Given the description of an element on the screen output the (x, y) to click on. 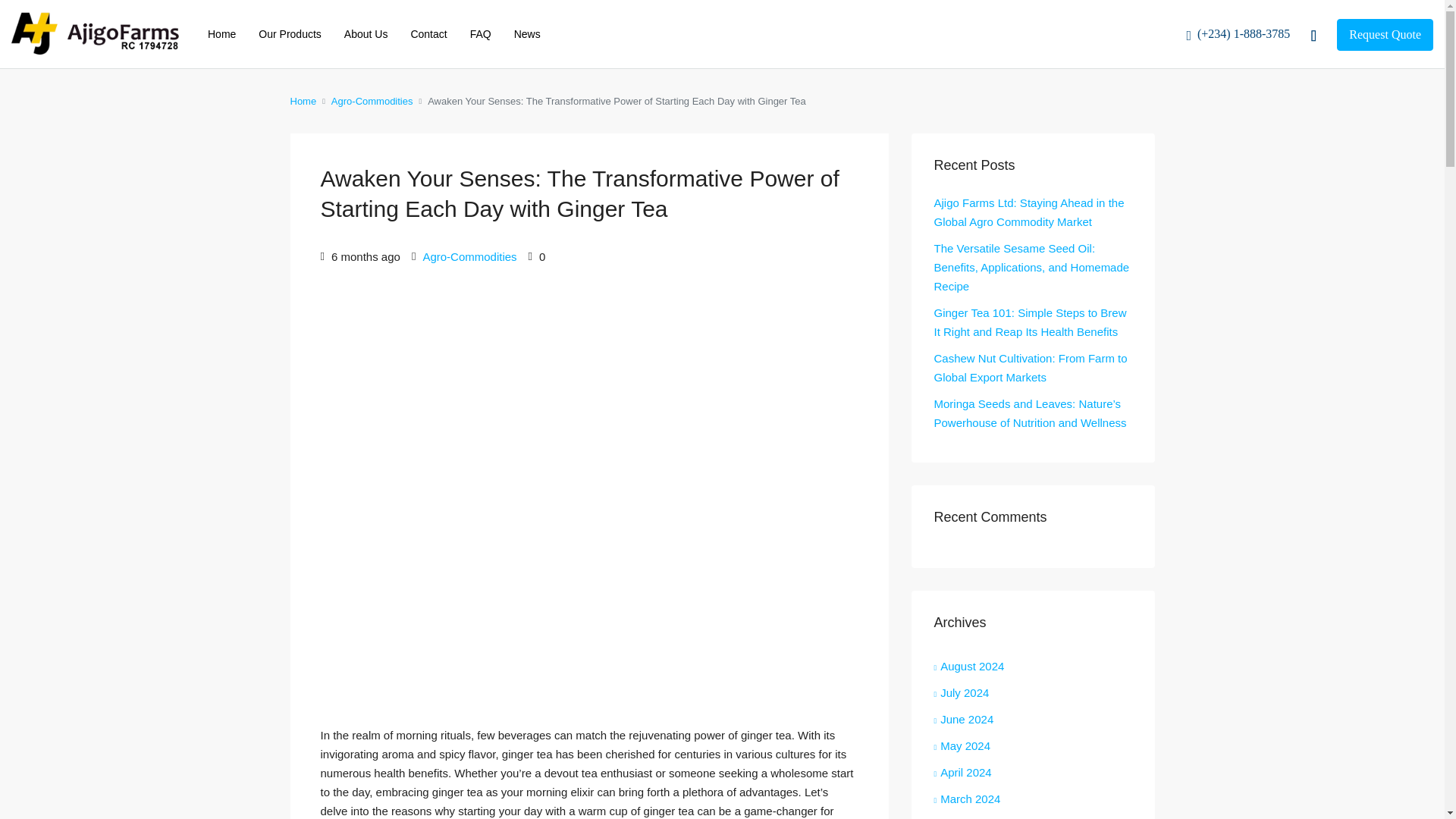
Agro-Commodities (469, 256)
Our Products (289, 33)
Home (302, 100)
Agro-Commodities (372, 100)
Request Quote (1384, 34)
About Us (365, 33)
